Given the description of an element on the screen output the (x, y) to click on. 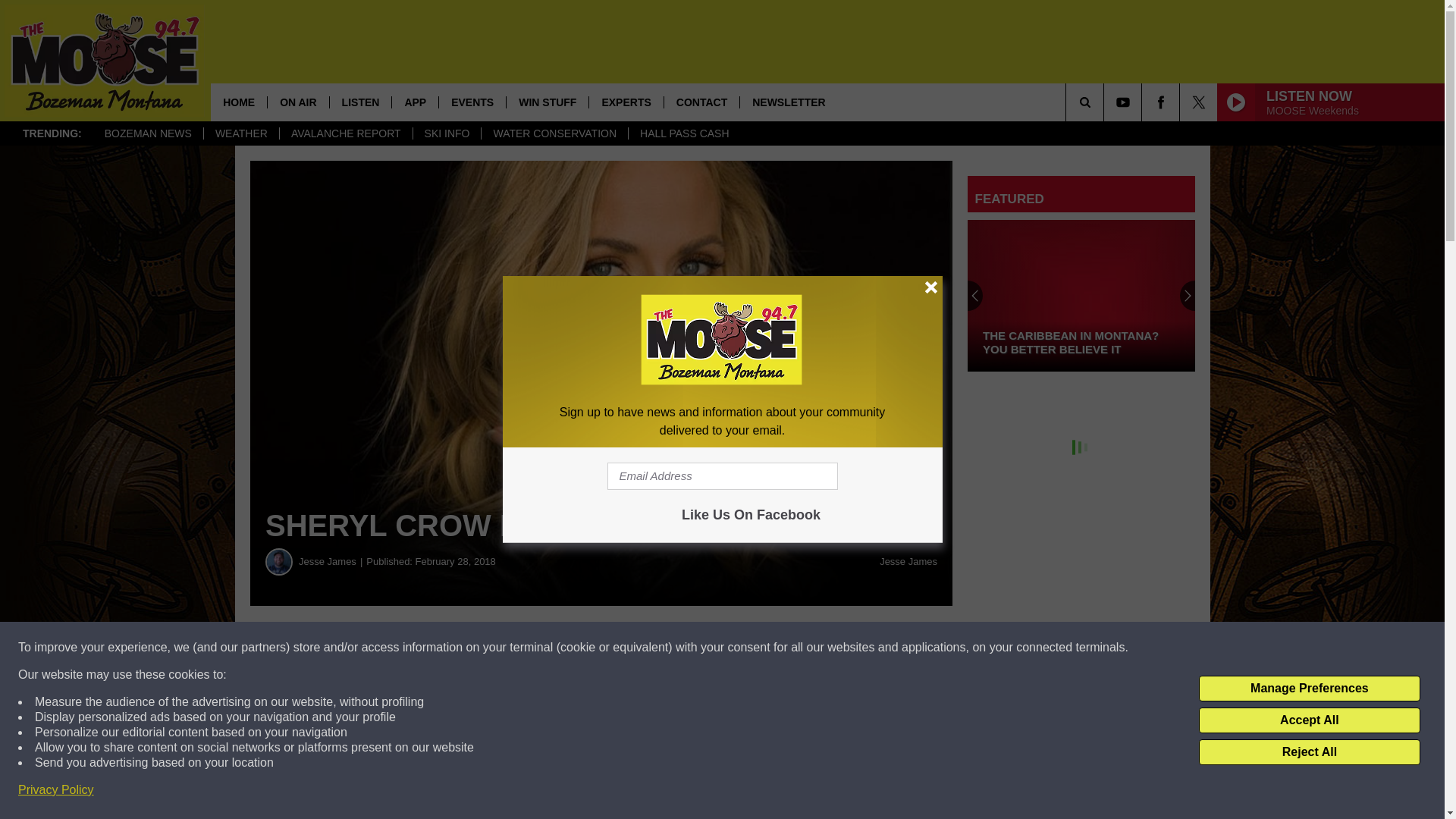
APP (414, 102)
EVENTS (471, 102)
WIN STUFF (546, 102)
Privacy Policy (55, 789)
CONTACT (701, 102)
EXPERTS (625, 102)
Manage Preferences (1309, 688)
Share on Facebook (460, 647)
LISTEN (360, 102)
SEARCH (1106, 102)
ON AIR (297, 102)
Email Address (722, 475)
Accept All (1309, 720)
WEATHER (241, 133)
SKI INFO (446, 133)
